Given the description of an element on the screen output the (x, y) to click on. 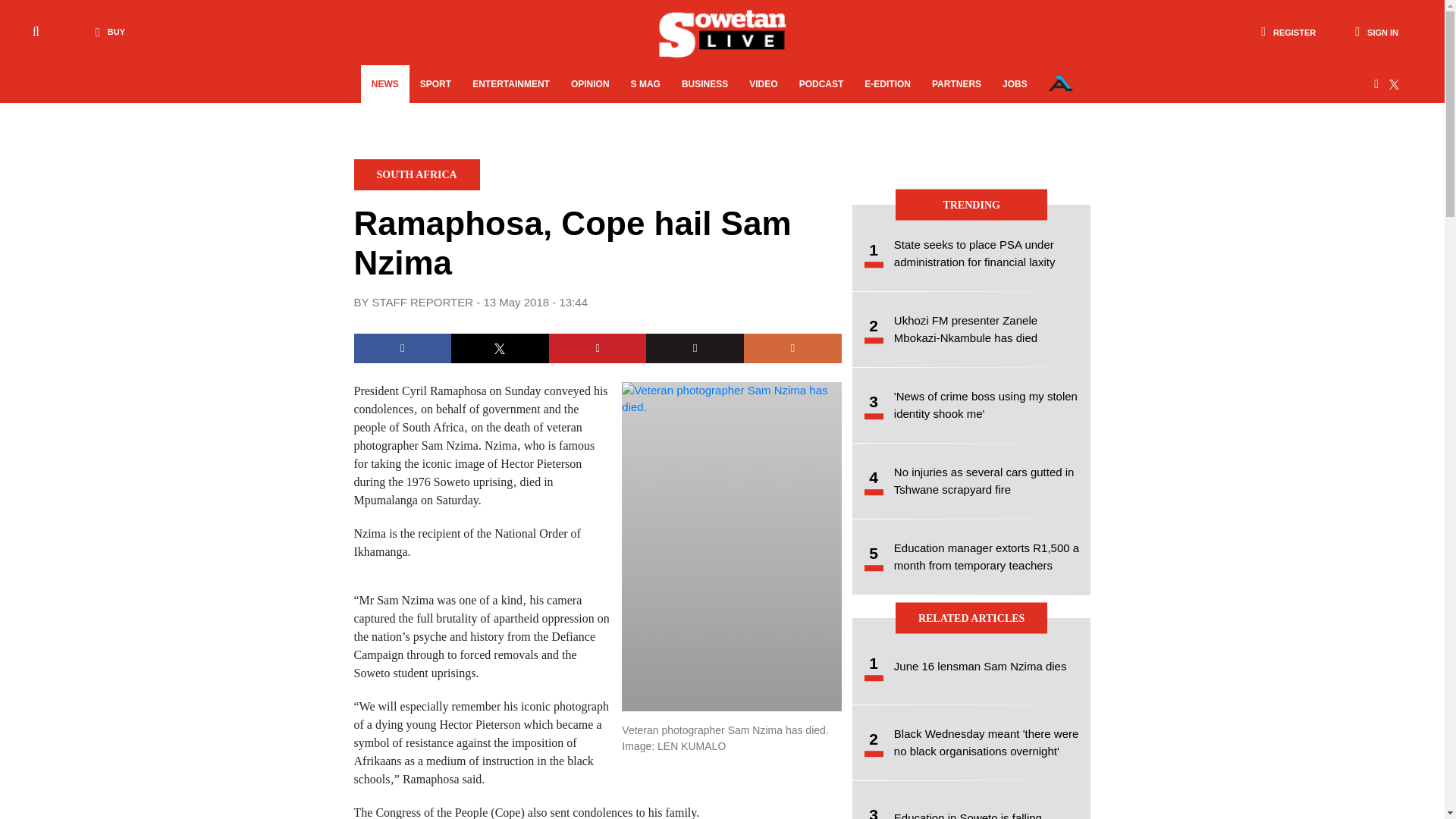
Our Network (1060, 83)
BUSINESS (704, 84)
NEWS (385, 84)
OPINION (590, 84)
S MAG (645, 84)
BUY (106, 32)
REGISTER (1288, 32)
PODCAST (821, 84)
SIGN IN (1376, 32)
JOBS (1014, 84)
